Given the description of an element on the screen output the (x, y) to click on. 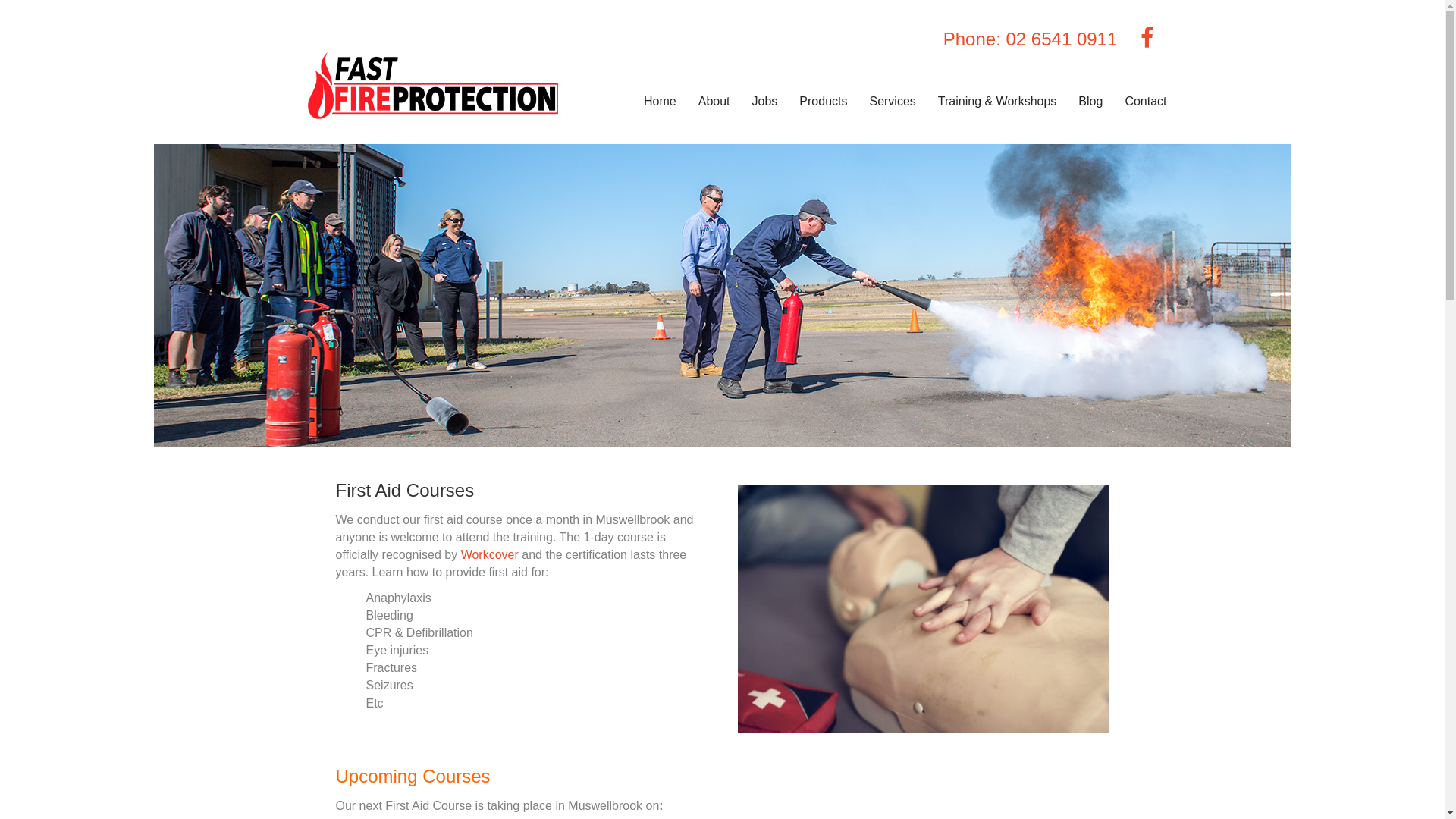
CPR Element type: hover (922, 609)
Services Element type: text (891, 101)
Workcover Element type: text (489, 554)
Contact Element type: text (1144, 101)
Jobs Element type: text (764, 101)
Products Element type: text (822, 101)
Training & Workshops Element type: hover (721, 295)
FINAL LOGO_UPDATED Element type: hover (432, 85)
About Element type: text (713, 101)
Blog Element type: text (1090, 101)
Home Element type: text (660, 101)
Training & Workshops Element type: text (997, 101)
Phone: 02 6541 0911 Element type: text (1030, 38)
